Given the description of an element on the screen output the (x, y) to click on. 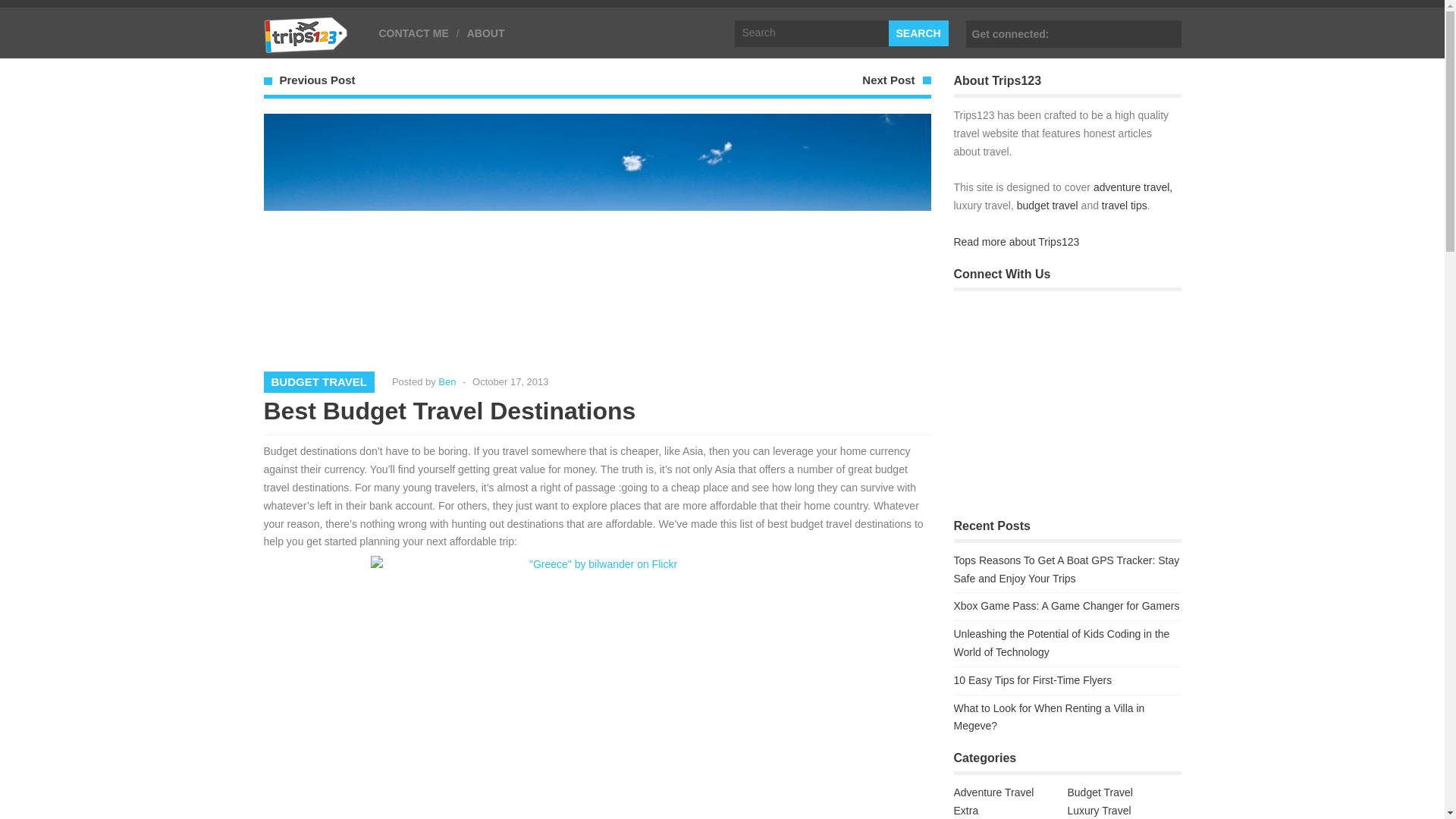
Search (918, 32)
CONTACT ME (413, 33)
Posts by Ben (446, 381)
budget travel (1047, 205)
Facebook (1166, 34)
Trips123 (306, 45)
Search (918, 32)
Next Post (887, 79)
Previous Post (317, 79)
adventure travel, (1132, 186)
BUDGET TRAVEL (318, 381)
ABOUT (486, 33)
Ben (446, 381)
travel tips (1124, 205)
Read more about Trips123 (1016, 241)
